Given the description of an element on the screen output the (x, y) to click on. 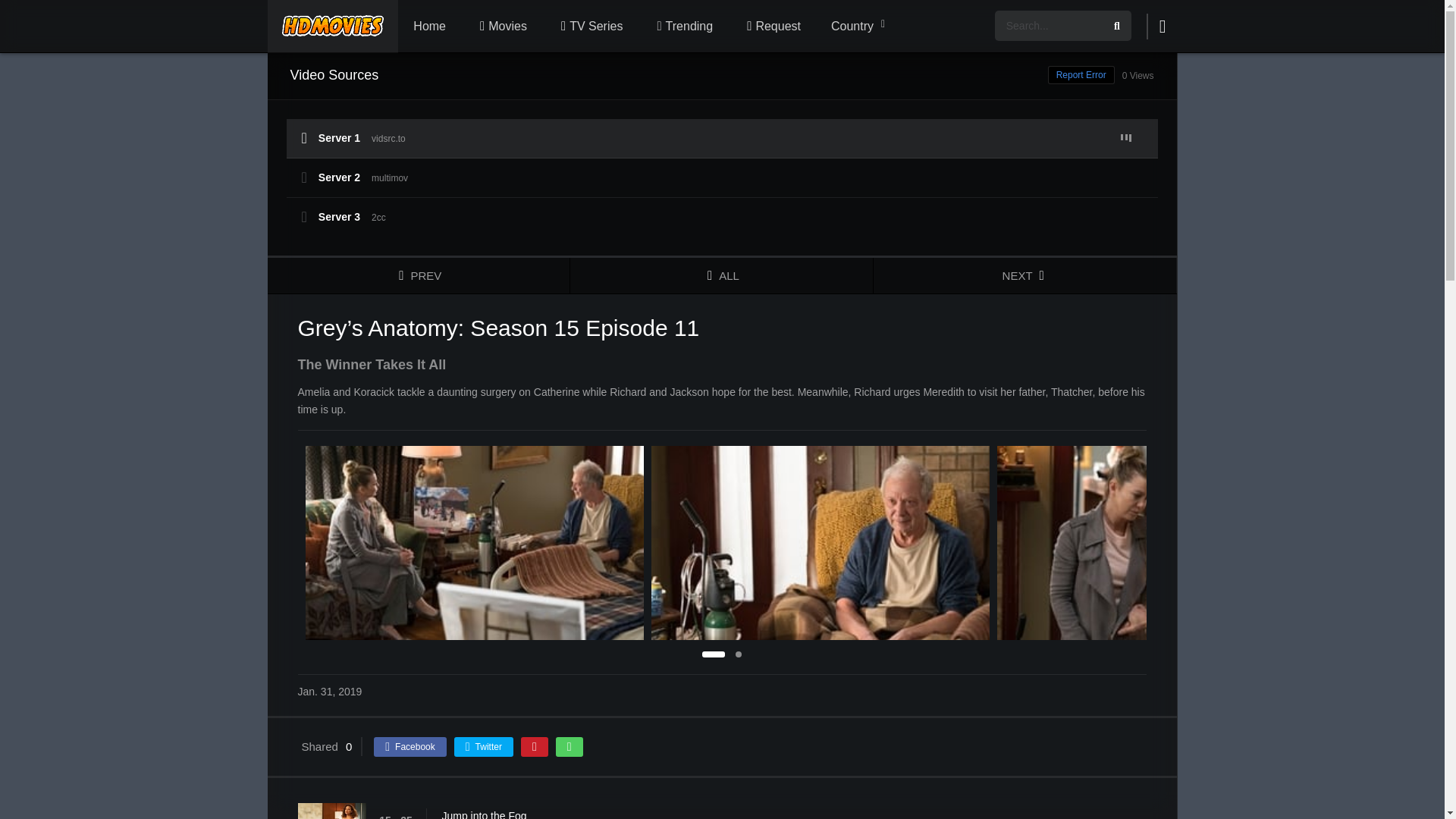
TV Series (589, 26)
Country (857, 26)
Movies (501, 26)
Request (771, 26)
Report Error (1081, 75)
Trending (682, 26)
Home (429, 26)
